Given the description of an element on the screen output the (x, y) to click on. 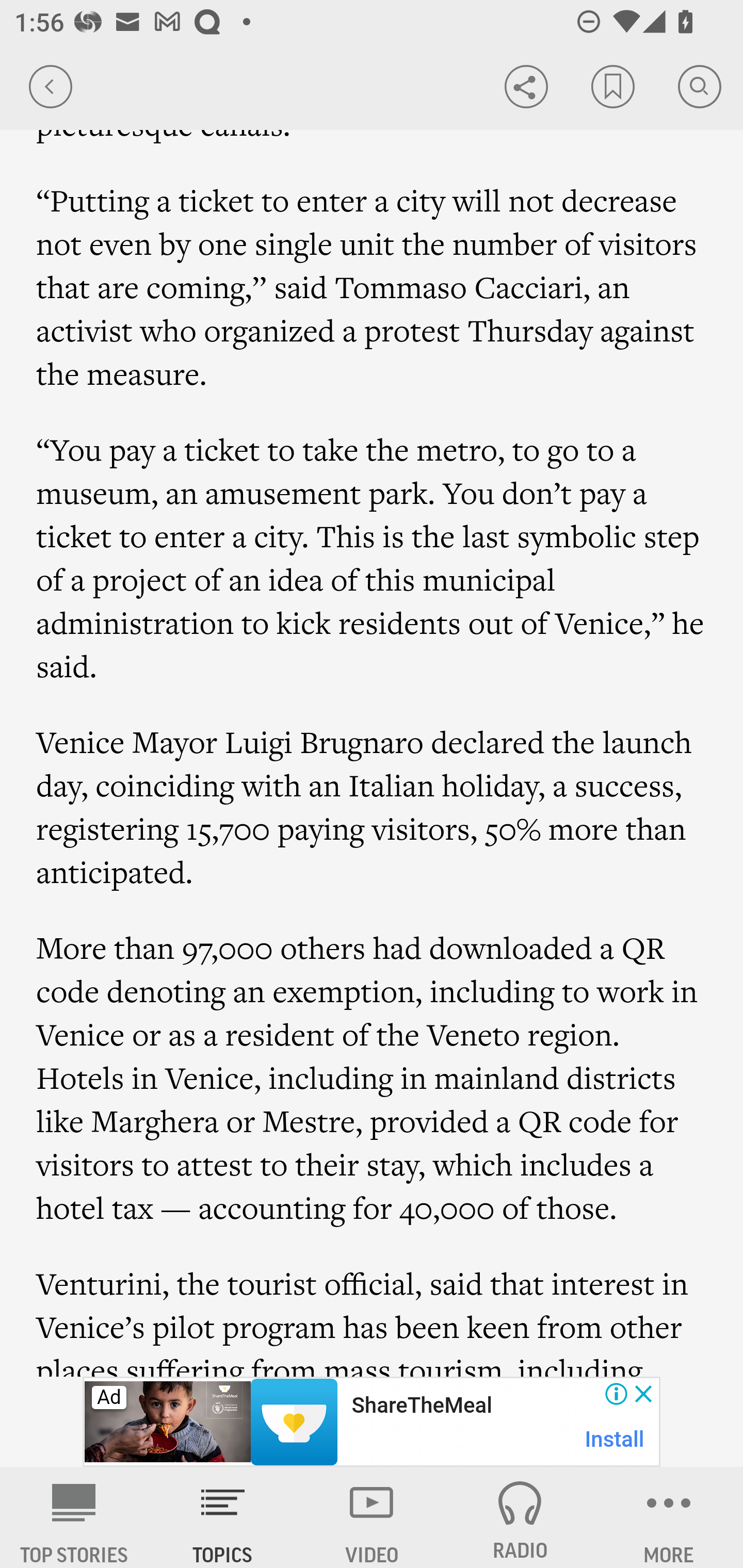
ShareTheMeal (420, 1405)
Install (614, 1438)
AP News TOP STORIES (74, 1517)
TOPICS (222, 1517)
VIDEO (371, 1517)
RADIO (519, 1517)
MORE (668, 1517)
